Given the description of an element on the screen output the (x, y) to click on. 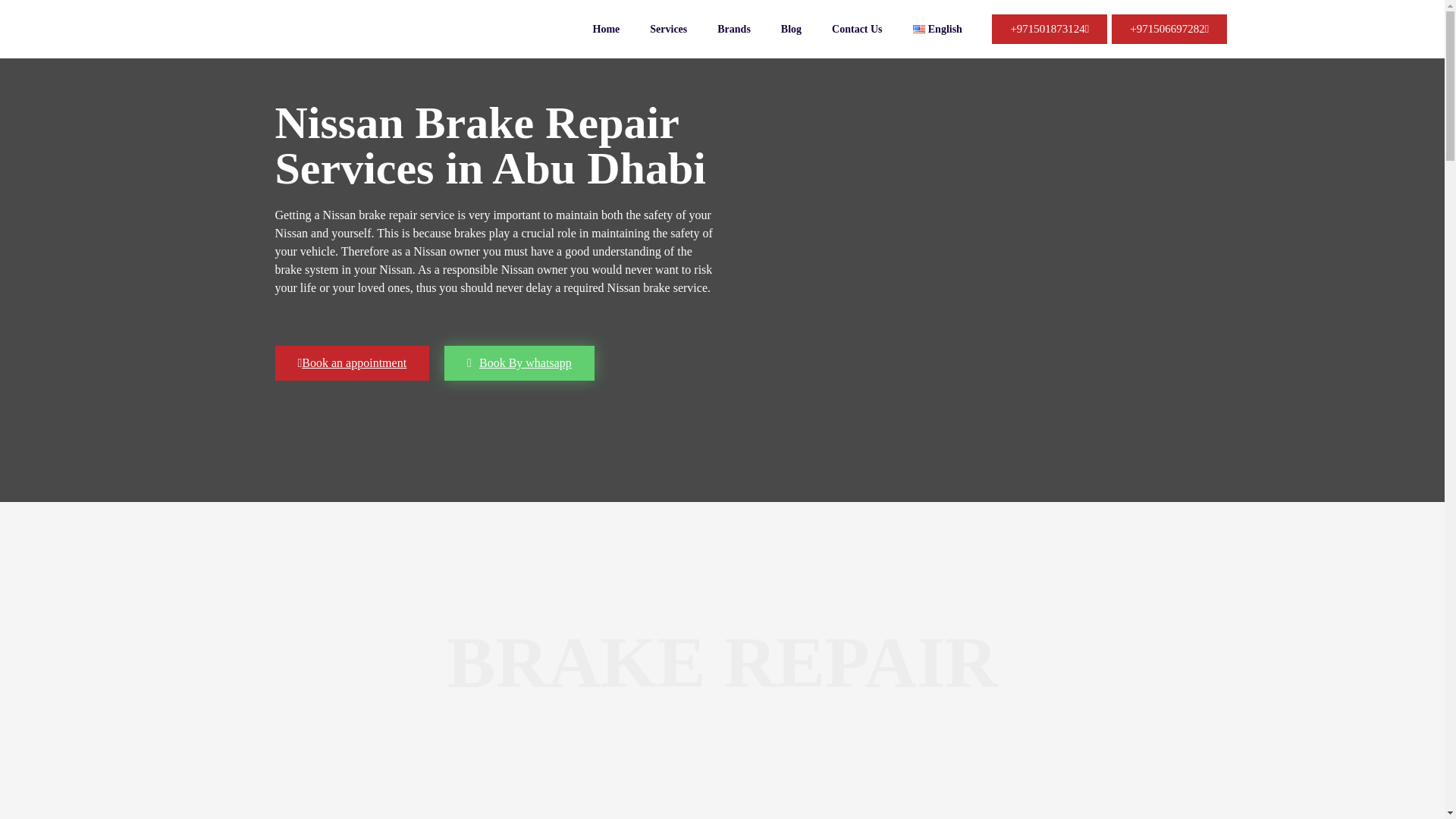
Brands (733, 29)
Home (606, 29)
Services (667, 29)
